Given the description of an element on the screen output the (x, y) to click on. 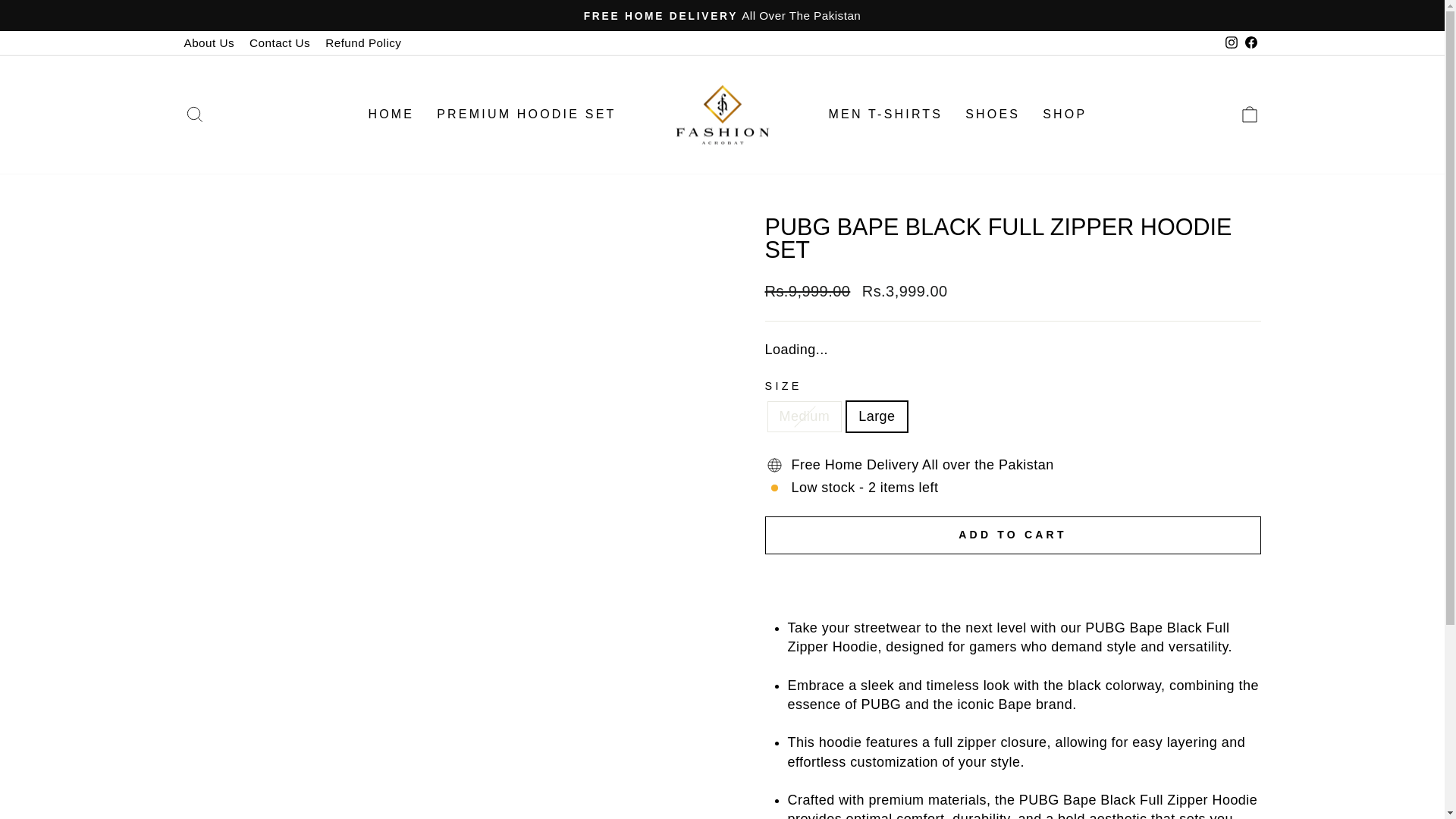
SHOES (991, 114)
HOME (390, 114)
SHOP (1063, 114)
MEN T-SHIRTS (885, 114)
About Us (208, 42)
SEARCH (194, 114)
Contact Us (279, 42)
CART (1249, 114)
